Given the description of an element on the screen output the (x, y) to click on. 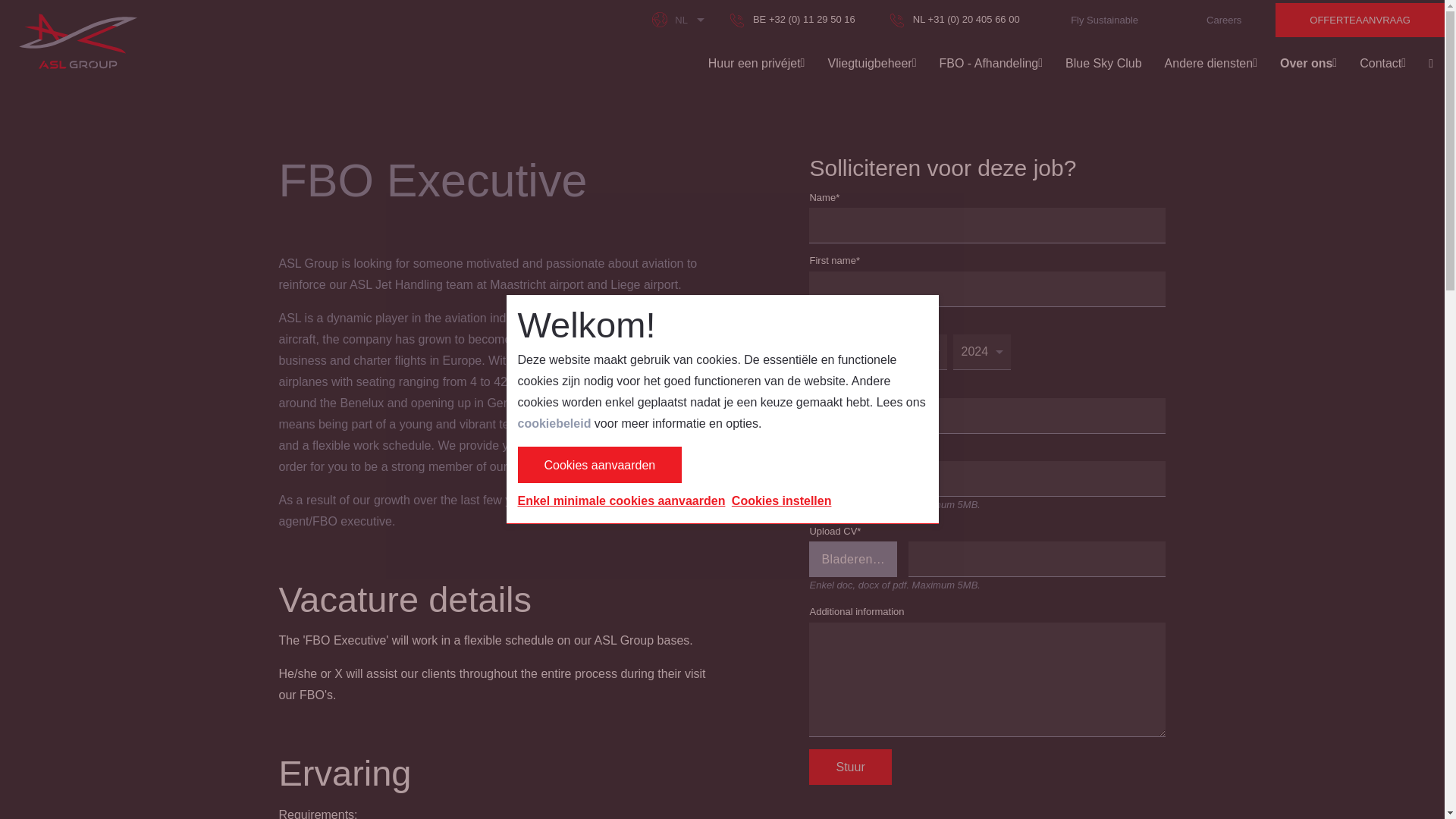
Vliegtuigbeheer (871, 62)
Page 1 (495, 392)
FBO - Afhandeling (991, 62)
